Given the description of an element on the screen output the (x, y) to click on. 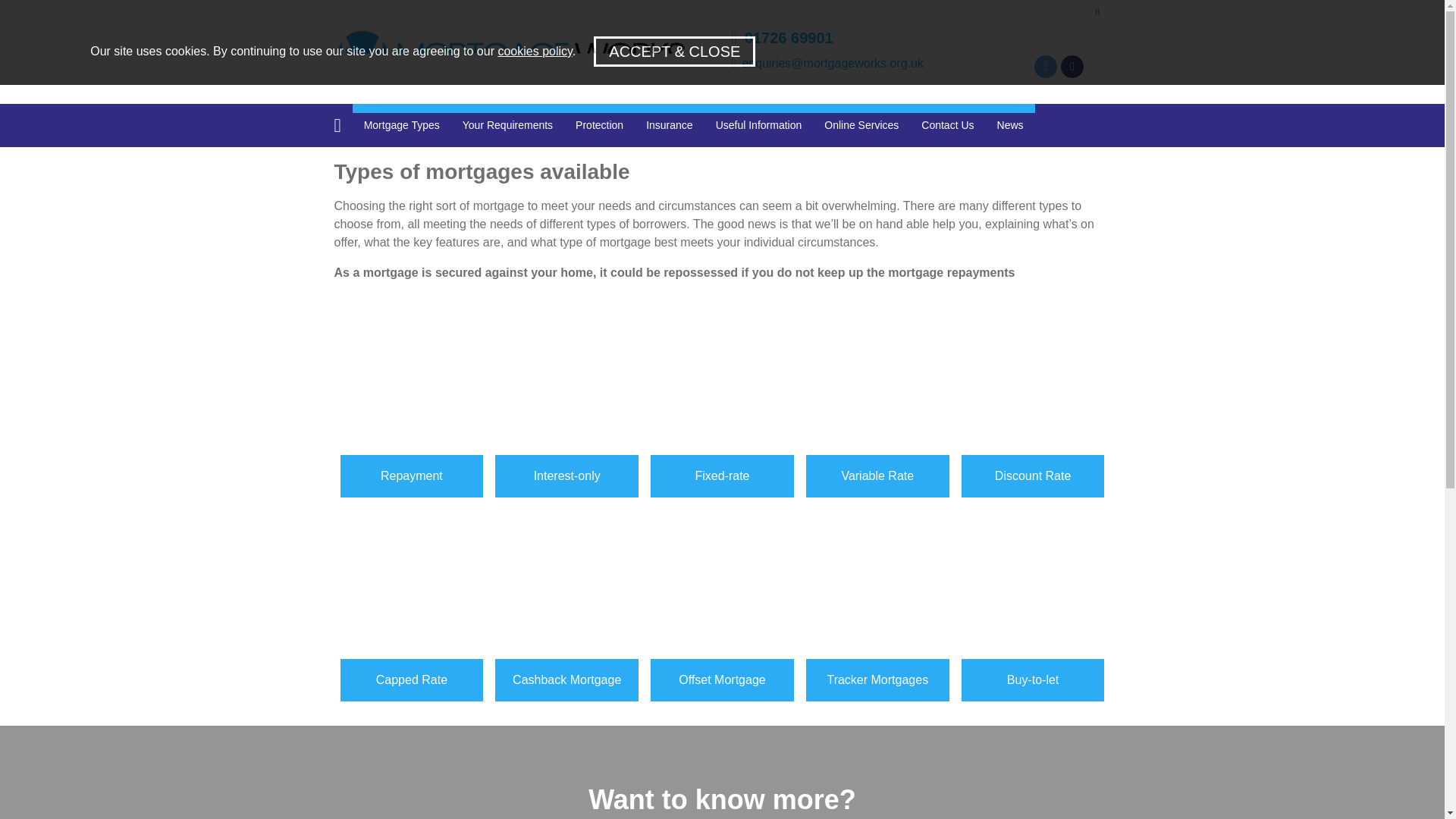
Mortgage Types (401, 125)
Buy-to-let (1032, 587)
Contact Us (947, 125)
Capped Rate (411, 587)
Variable Rate (877, 383)
Protection (599, 125)
Fixed-rate (721, 383)
Discount Rate (1032, 383)
Your Requirements (507, 125)
News (1010, 125)
Insurance (668, 125)
Online Services (861, 125)
Useful Information (758, 125)
Tracker Mortgages (877, 587)
Interest-only (567, 383)
